Given the description of an element on the screen output the (x, y) to click on. 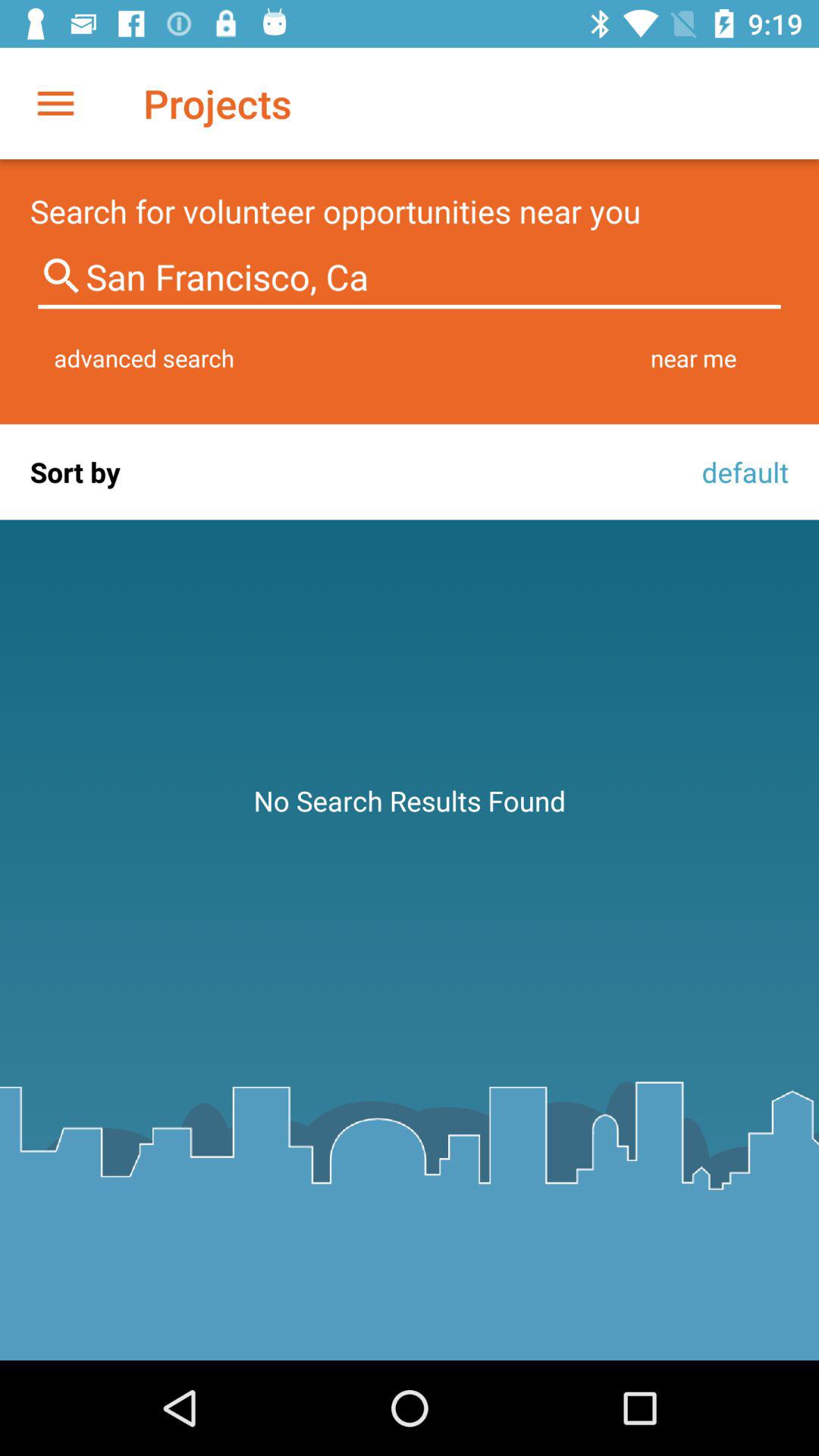
launch the item above sort by (144, 358)
